Given the description of an element on the screen output the (x, y) to click on. 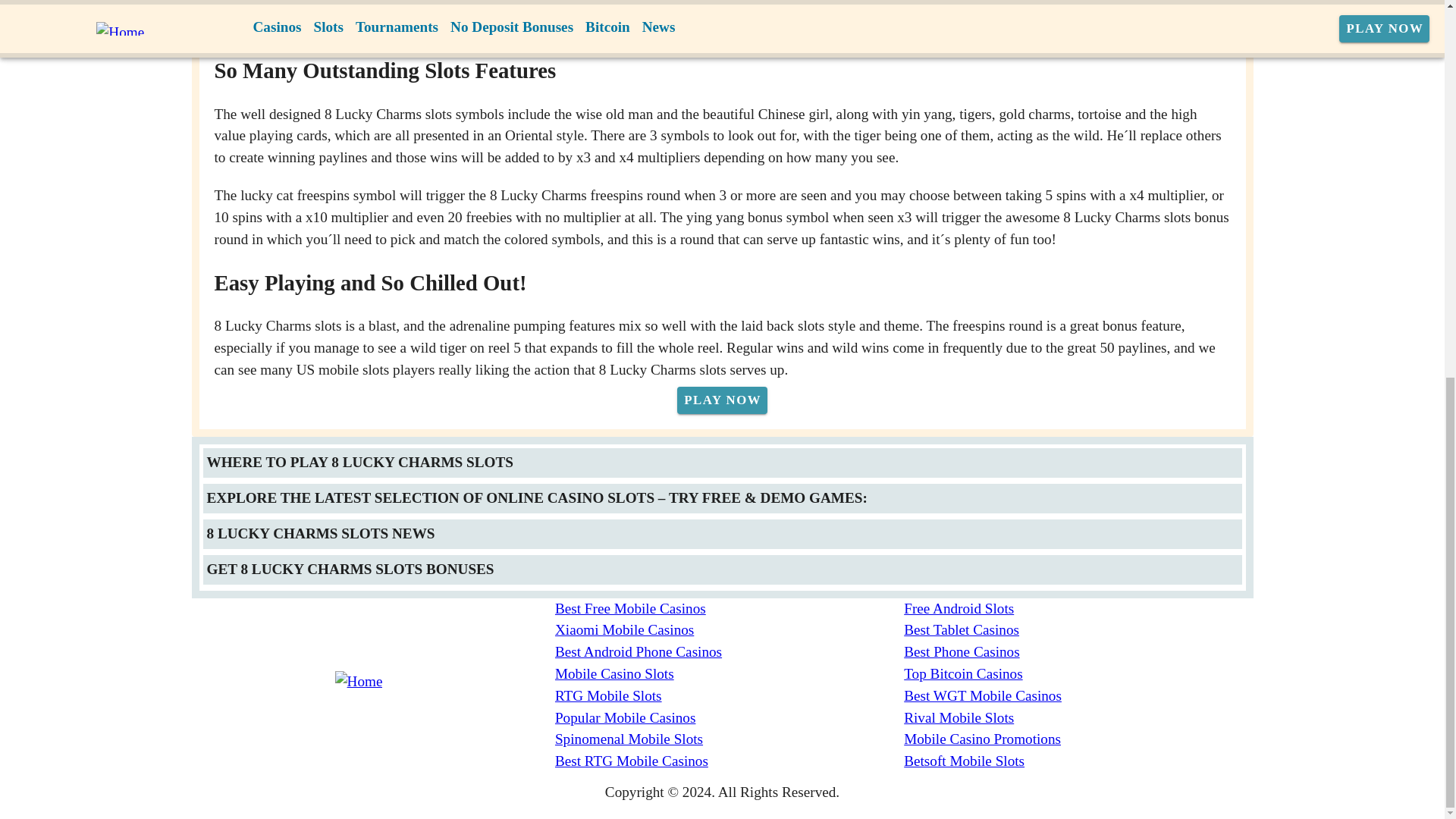
Best Tablet Casinos (1078, 630)
Xiaomi Mobile Casinos (729, 630)
Best WGT Mobile Casinos (1078, 696)
PLAY NOW (307, 32)
Best RTG Mobile Casinos (729, 762)
PLAY NOW (722, 400)
Best Android Phone Casinos (729, 652)
Best Free Mobile Casinos (729, 608)
Betsoft Mobile Slots (1078, 762)
Mobile Casino Slots (729, 674)
